Given the description of an element on the screen output the (x, y) to click on. 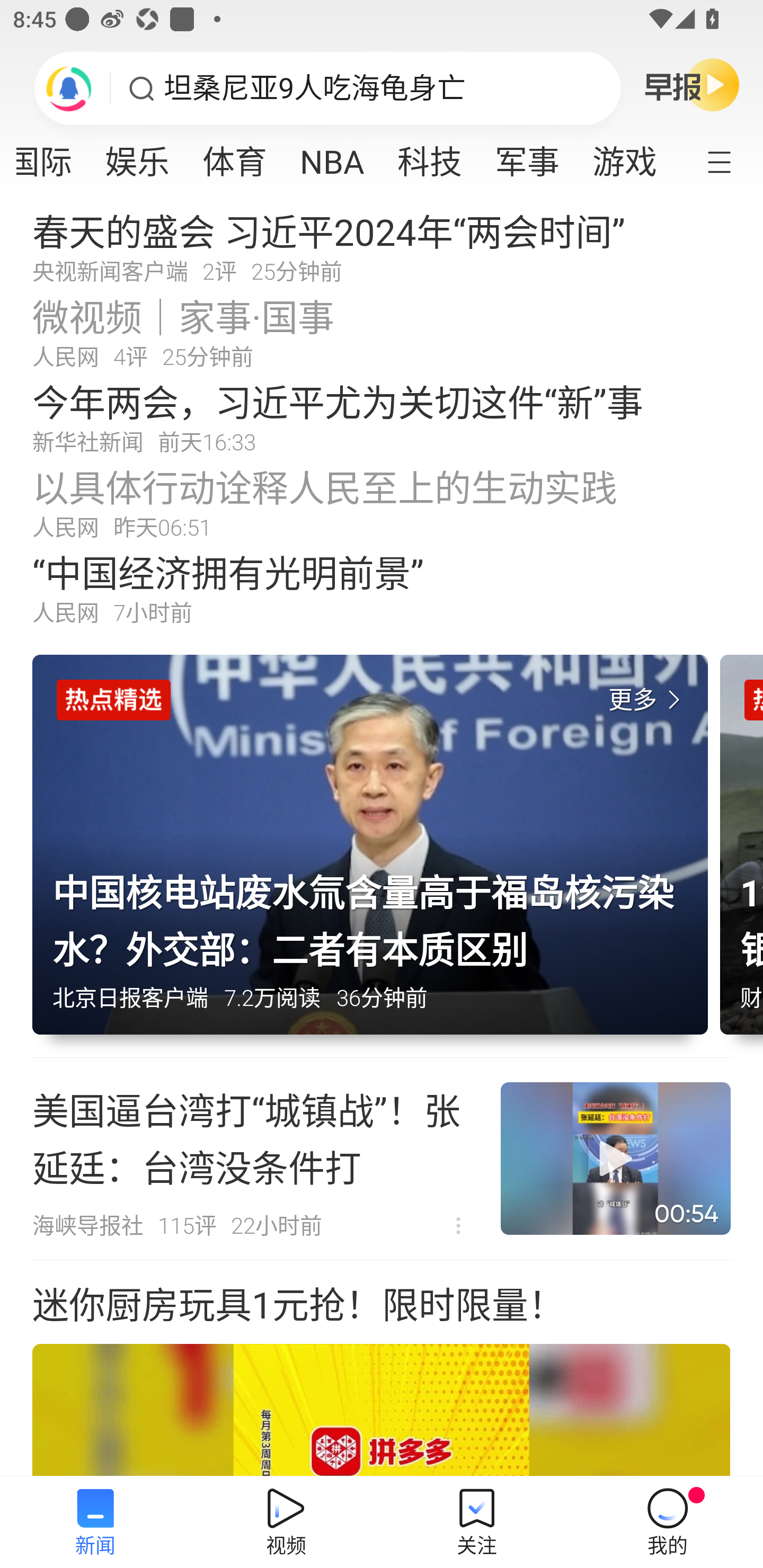
早晚报 (691, 84)
刷新 (68, 88)
坦桑尼亚9人吃海龟身亡 (314, 88)
国际 (52, 155)
娱乐 (137, 155)
体育 (234, 155)
NBA (331, 155)
科技 (429, 155)
军事 (527, 155)
游戏 (624, 155)
 定制频道 (731, 160)
春天的盛会 习近平2024年“两会时间” 央视新闻客户端 2评 25分钟前 (381, 245)
微视频｜家事·国事 人民网 4评 25分钟前 (381, 331)
今年两会，习近平尤为关切这件“新”事 新华社新闻 前天16:33 (381, 416)
以具体行动诠释人民至上的生动实践 人民网 昨天06:51 (381, 502)
“中国经济拥有光明前景” 人民网 7小时前 (381, 587)
更多  (648, 699)
 不感兴趣 (458, 1226)
迷你厨房玩具1元抢！限时限量！ (381, 1368)
